Given the description of an element on the screen output the (x, y) to click on. 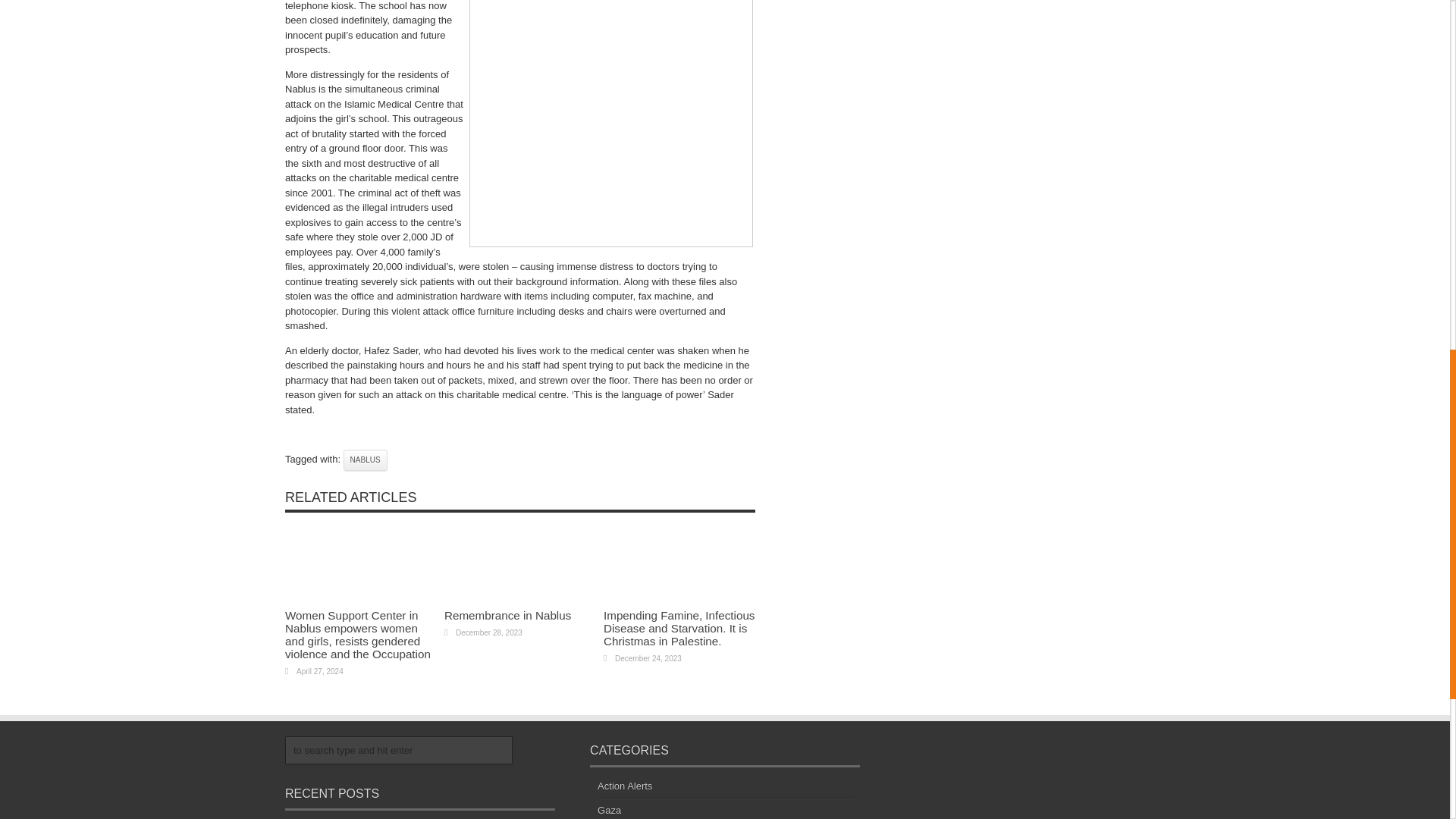
NABLUS (365, 459)
Remembrance in Nablus (507, 615)
to search type and hit enter (398, 750)
